Given the description of an element on the screen output the (x, y) to click on. 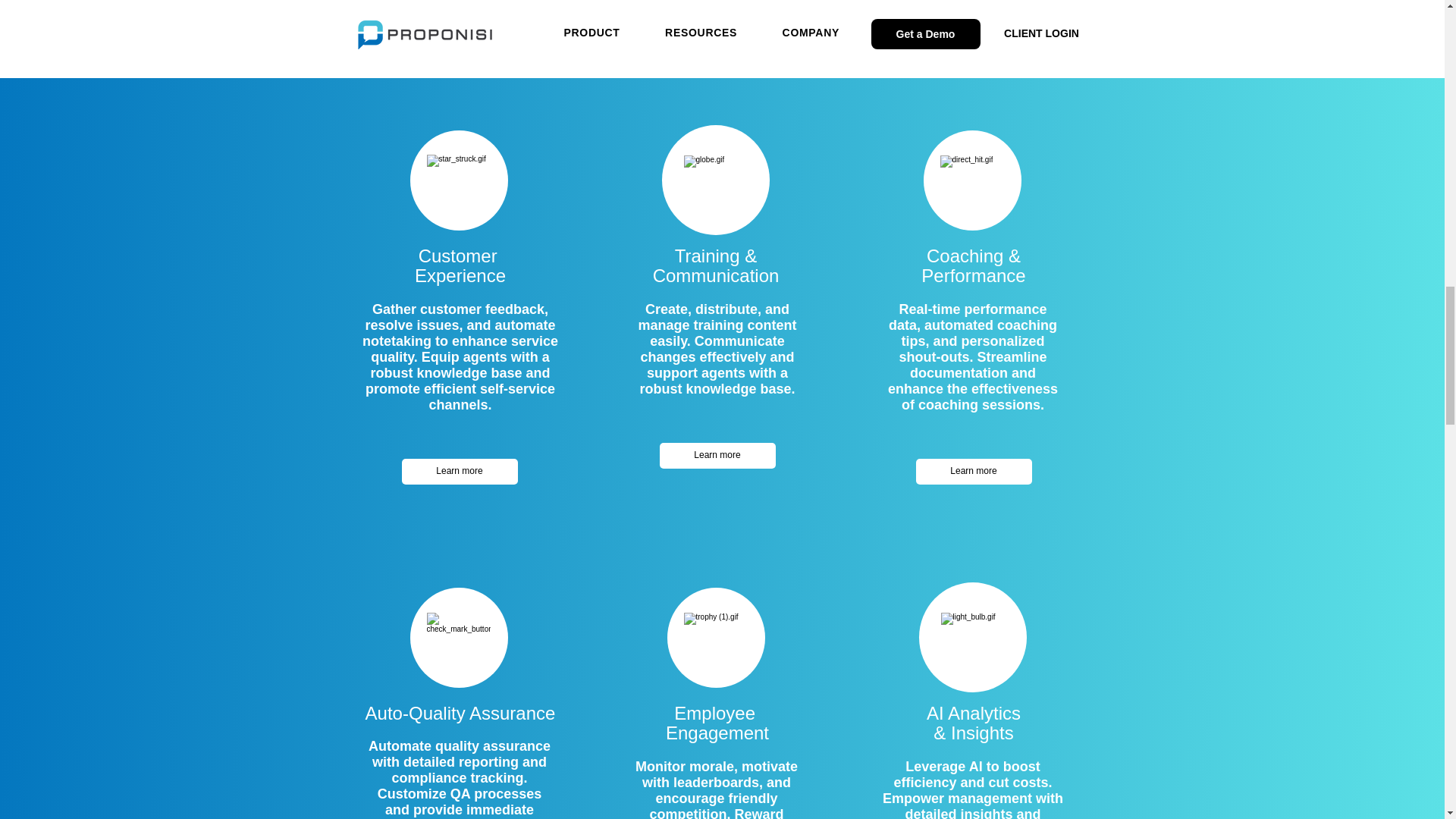
Get a Demo (721, 19)
Learn more (459, 471)
Learn more (973, 471)
Learn more (717, 455)
